Given the description of an element on the screen output the (x, y) to click on. 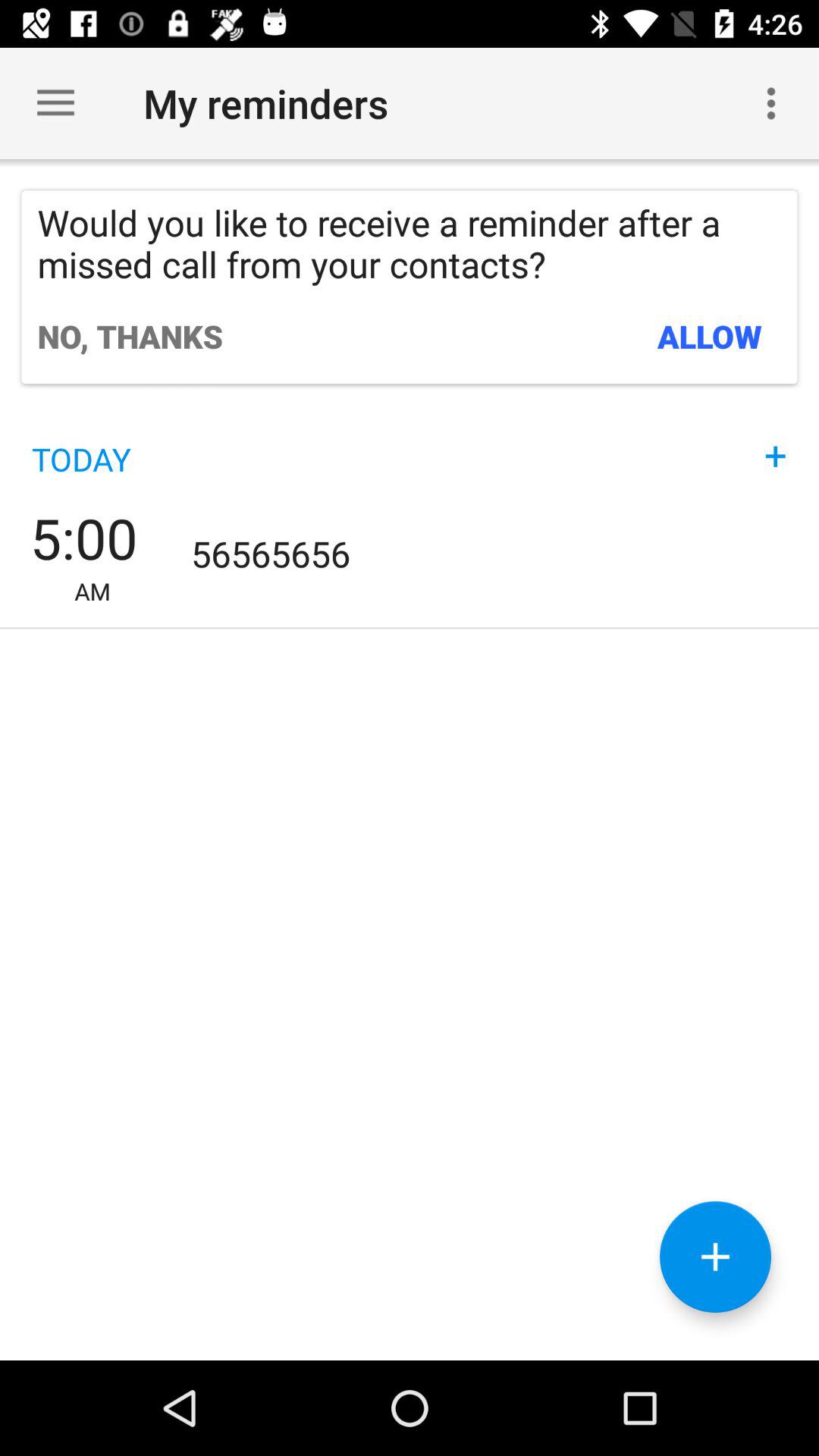
turn on the icon at the bottom right corner (715, 1256)
